Given the description of an element on the screen output the (x, y) to click on. 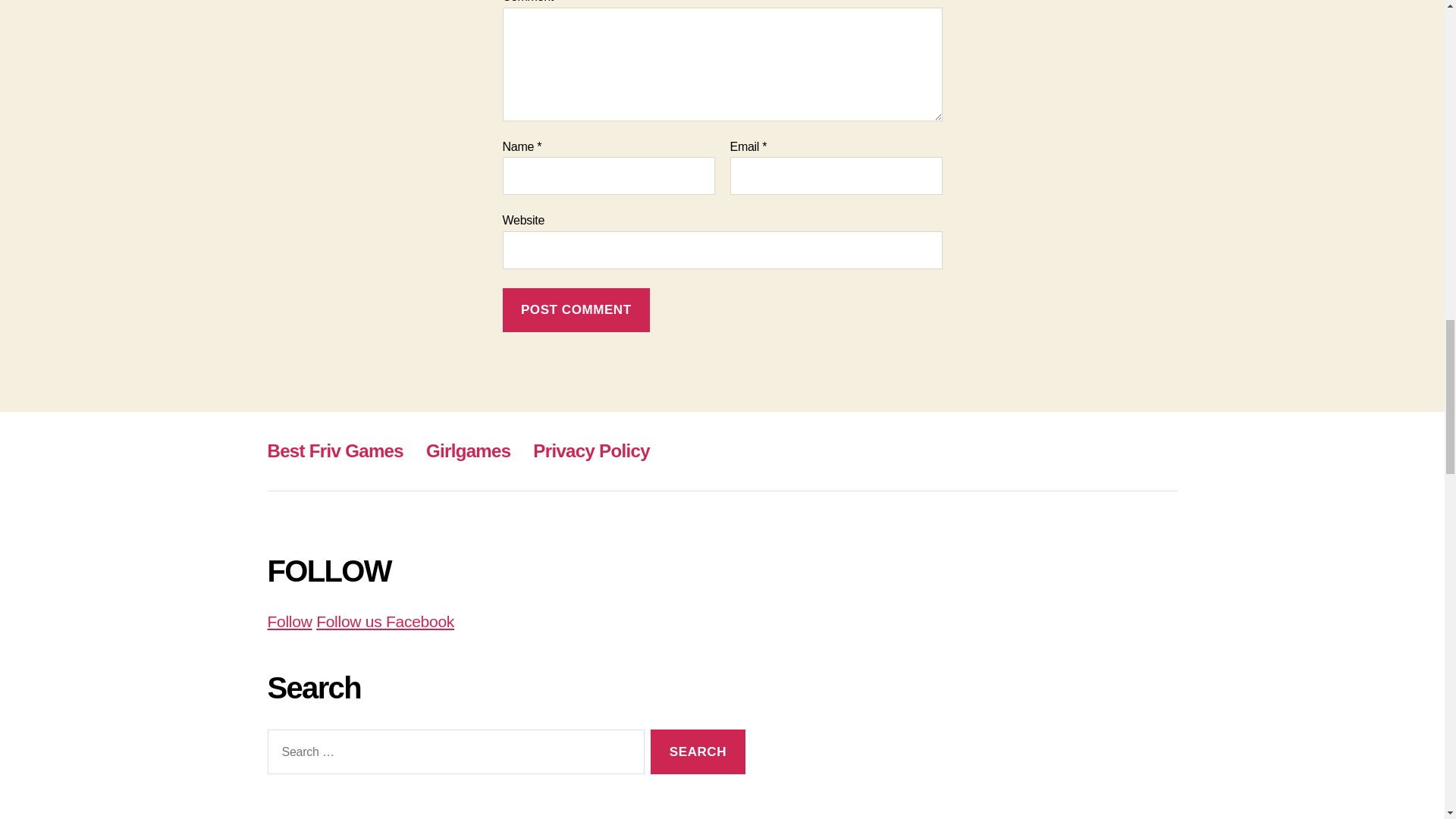
Privacy Policy (590, 450)
Post Comment (575, 310)
Search (697, 751)
Search (697, 751)
Follow (288, 620)
Follow us Facebook (384, 620)
Search (697, 751)
Best Friv Games (334, 450)
Girlgames (468, 450)
Post Comment (575, 310)
